Given the description of an element on the screen output the (x, y) to click on. 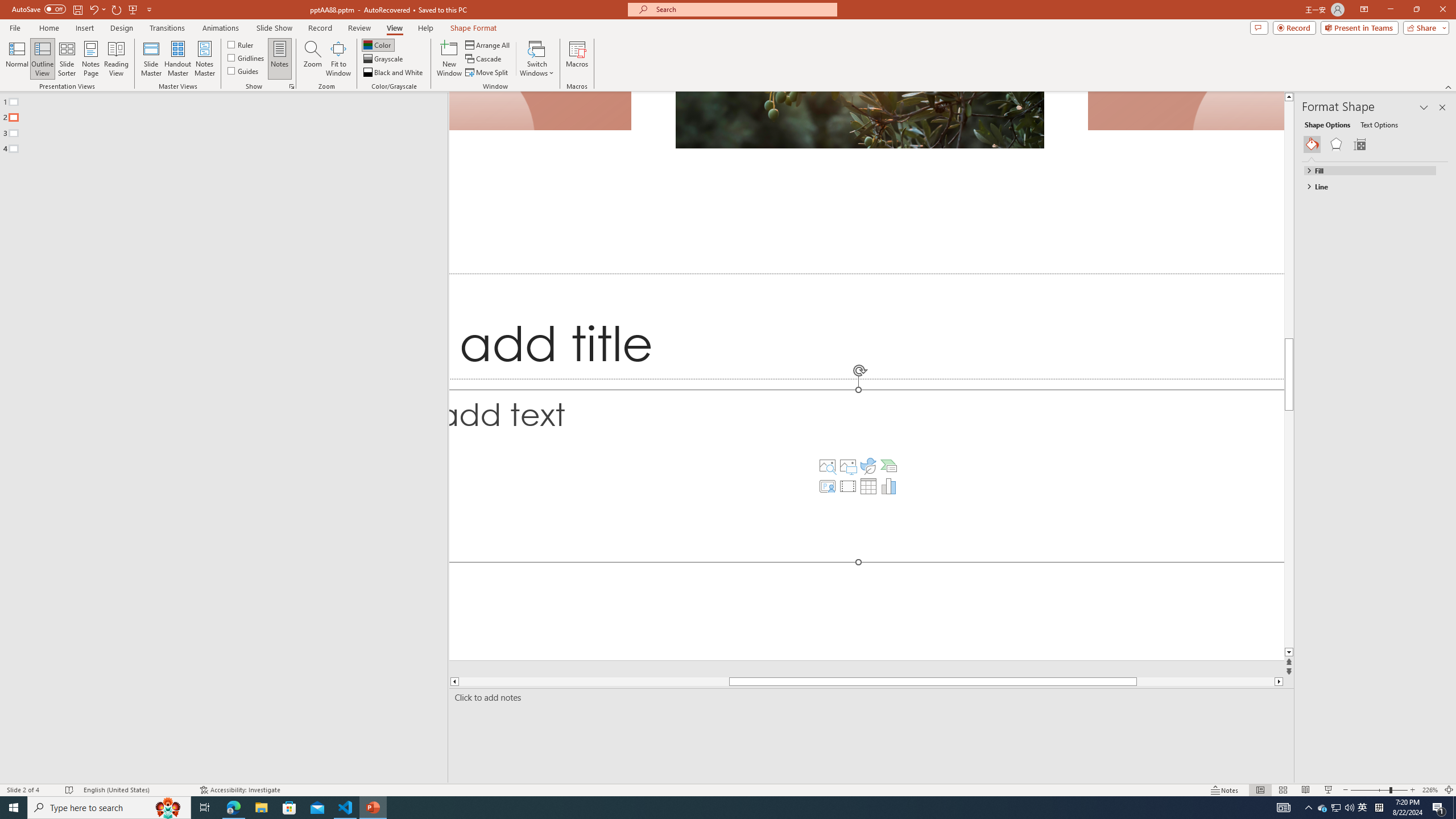
Move Split (487, 72)
Fit to Window (338, 58)
Gridlines (246, 56)
Class: NetUIGalleryContainer (1375, 144)
Text Options (1379, 124)
